Given the description of an element on the screen output the (x, y) to click on. 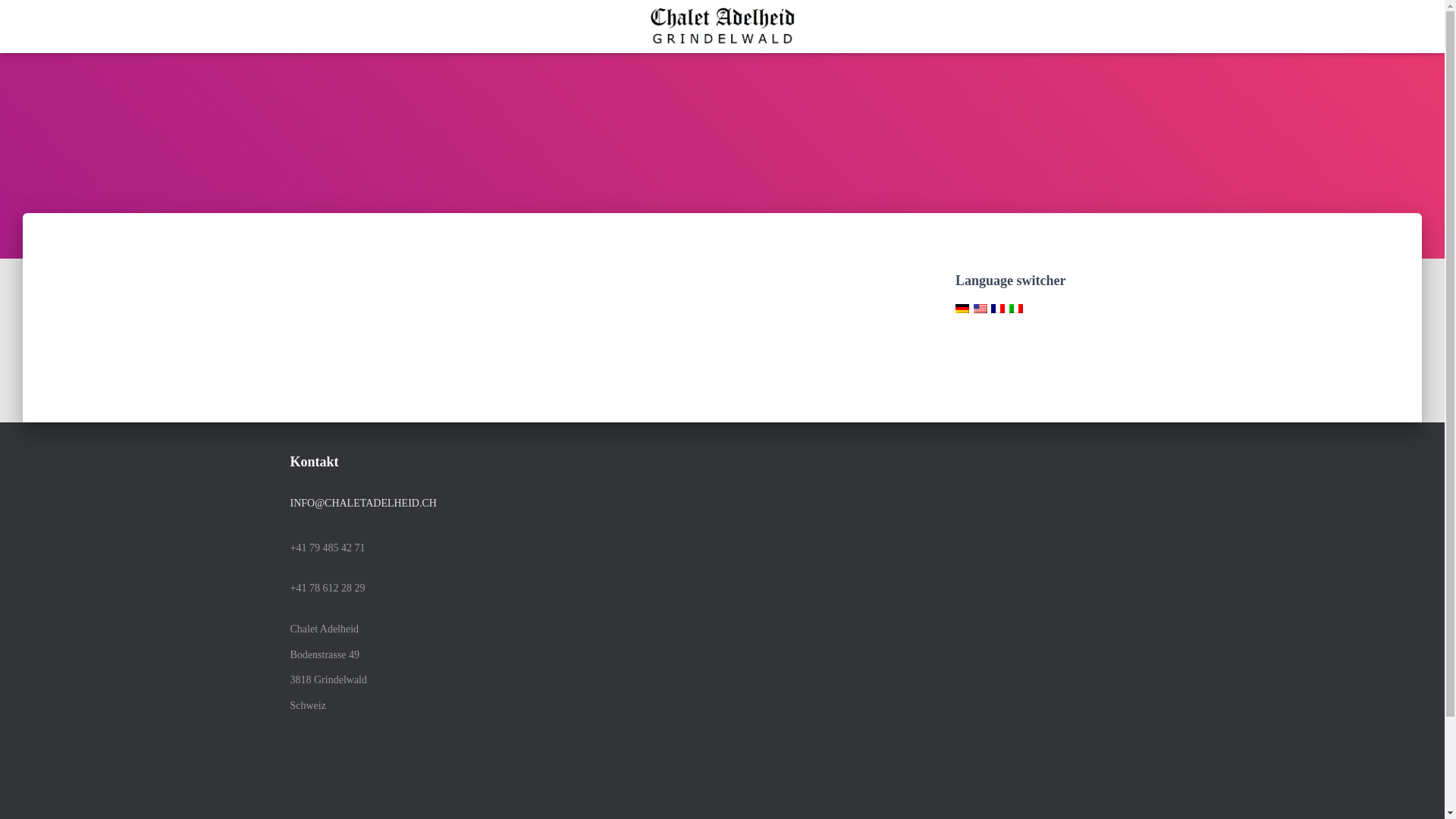
INFO@CHALETADELHEID.CH Element type: text (362, 503)
Ferienwohnung Chalet Adelheid Element type: hover (721, 26)
